Given the description of an element on the screen output the (x, y) to click on. 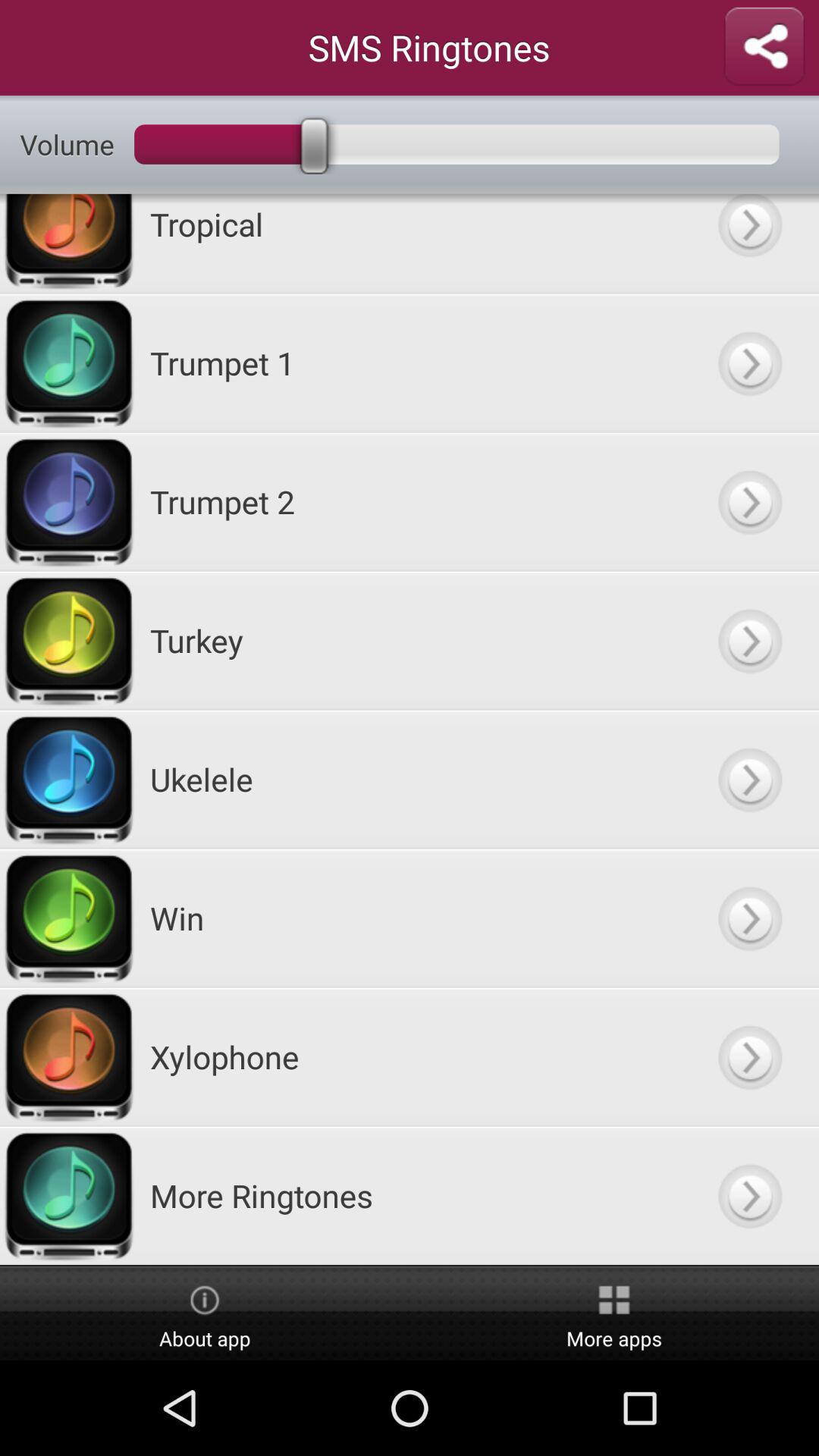
go to next (749, 779)
